Given the description of an element on the screen output the (x, y) to click on. 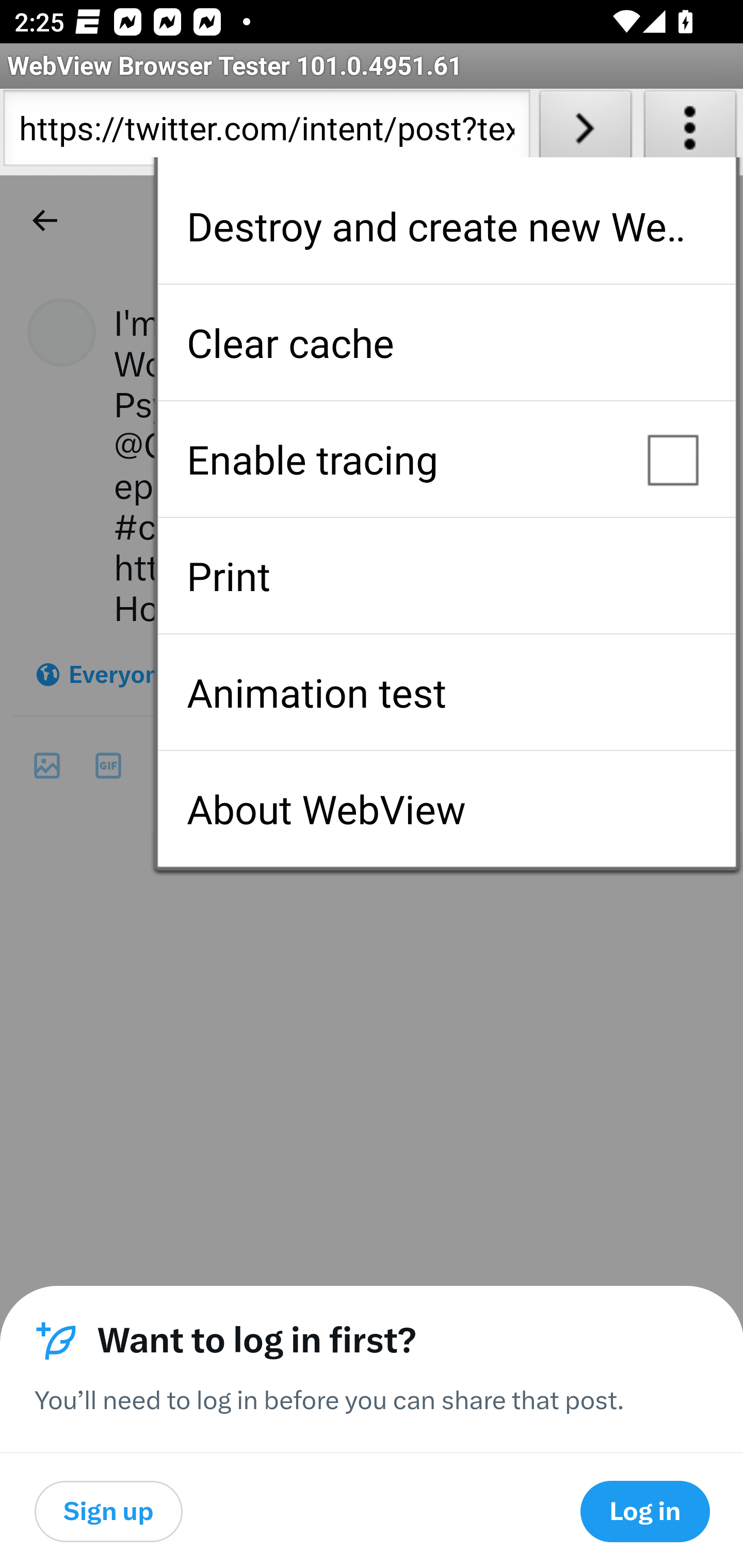
Destroy and create new WebView (446, 225)
Clear cache (446, 342)
Enable tracing (446, 459)
Print (446, 575)
Animation test (446, 692)
About WebView (446, 809)
